Given the description of an element on the screen output the (x, y) to click on. 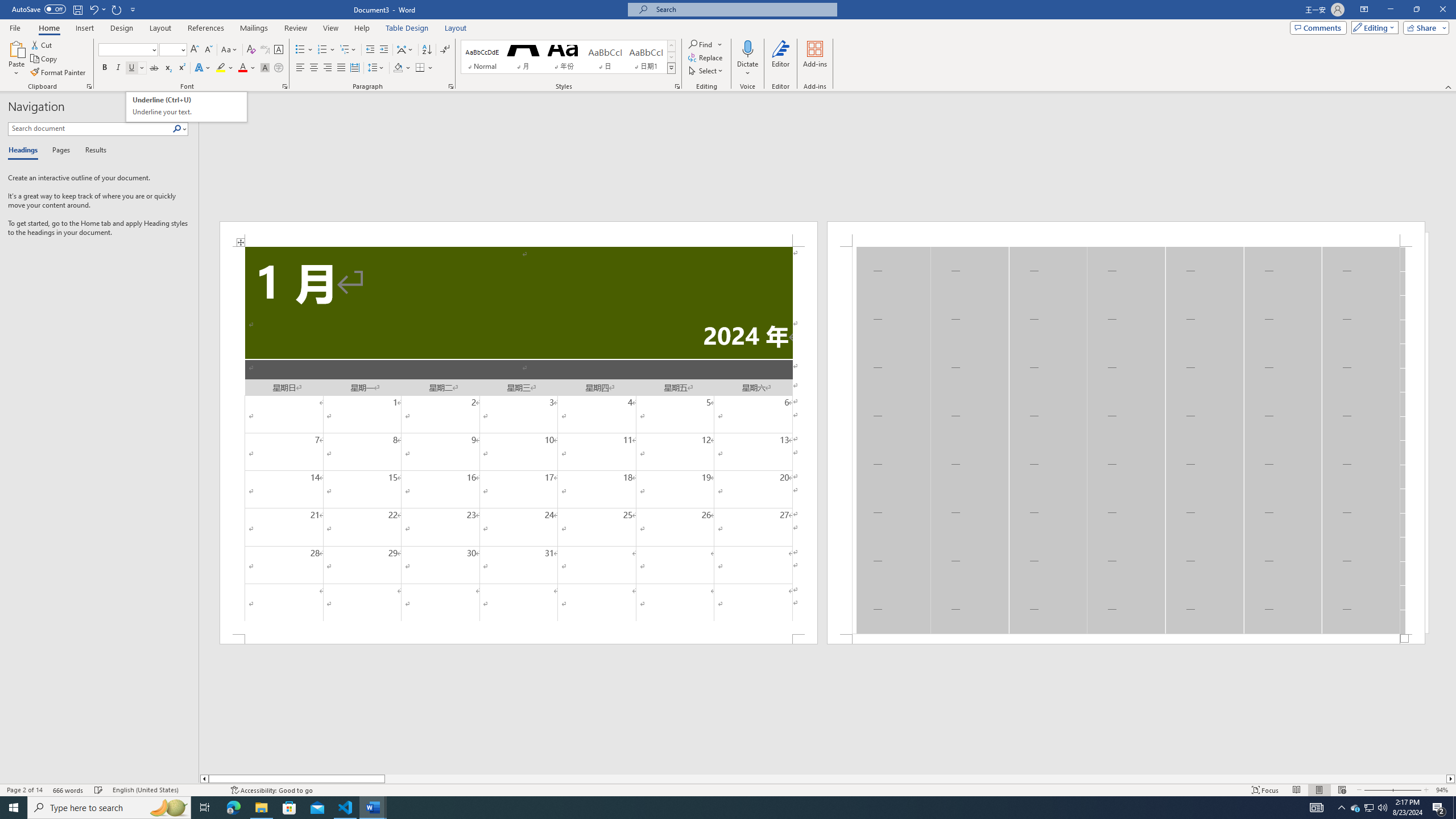
Increase Indent (383, 49)
Class: MsoCommandBar (728, 789)
Column right (1450, 778)
Styles (670, 67)
Search document (89, 128)
